Given the description of an element on the screen output the (x, y) to click on. 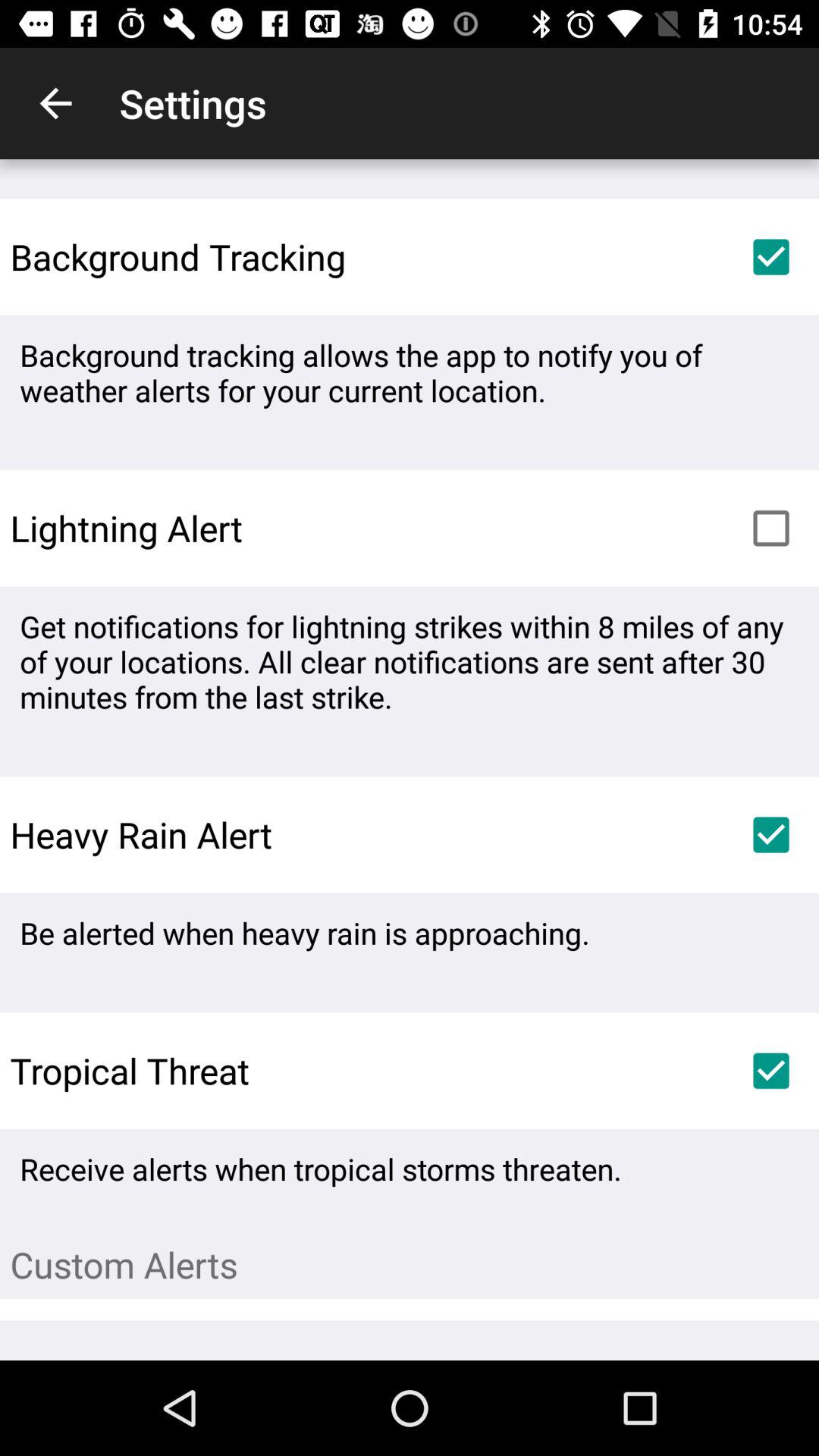
click the item to the right of the tropical threat item (771, 1070)
